Given the description of an element on the screen output the (x, y) to click on. 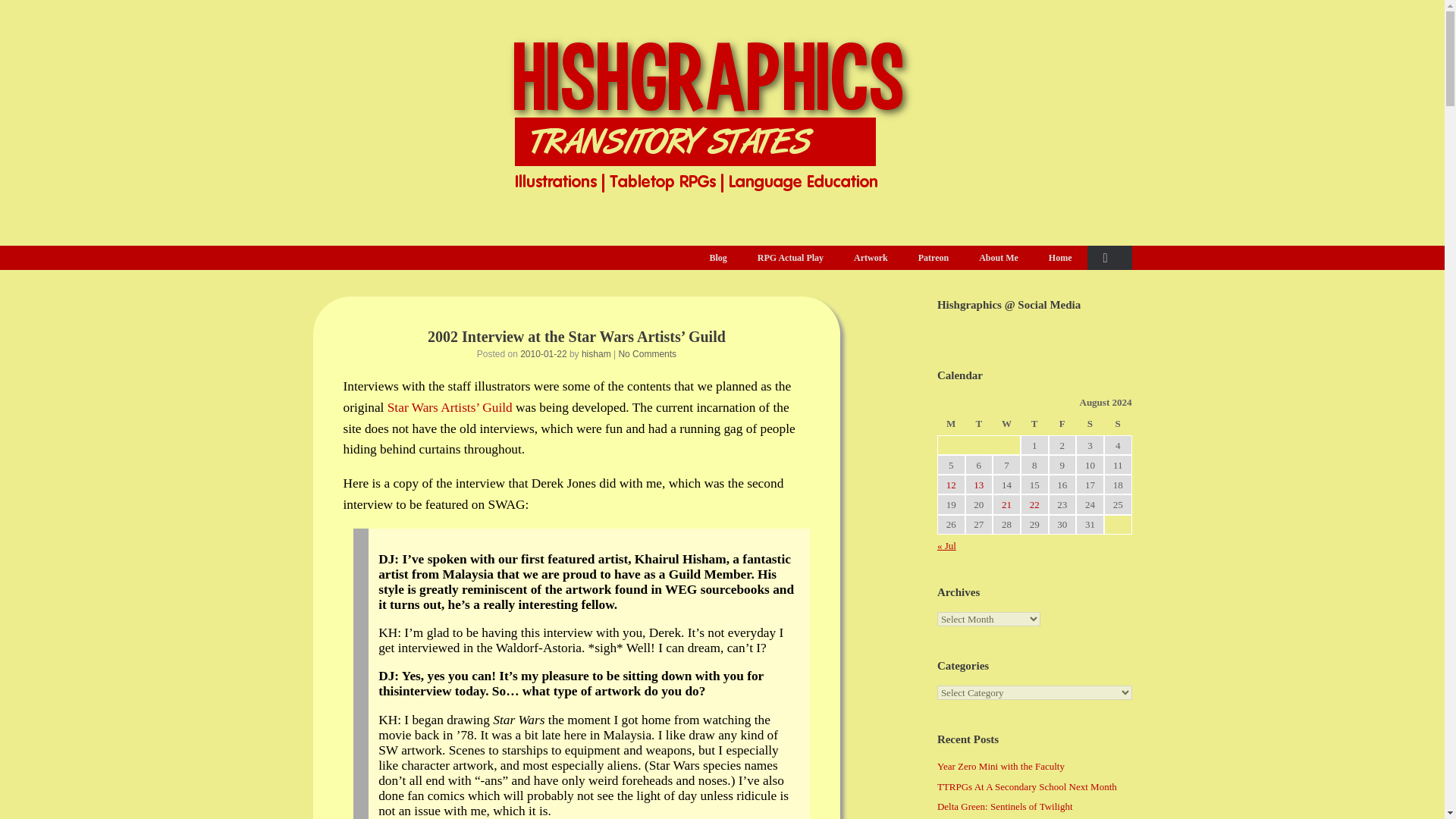
Tuesday (978, 424)
2010-01-22 (542, 353)
Sunday (1117, 424)
Monday (951, 424)
RPG Actual Play (790, 257)
Free artwork for Star Wars RPG players! (449, 407)
Saturday (1089, 424)
About Me (998, 257)
Patreon (932, 257)
